Given the description of an element on the screen output the (x, y) to click on. 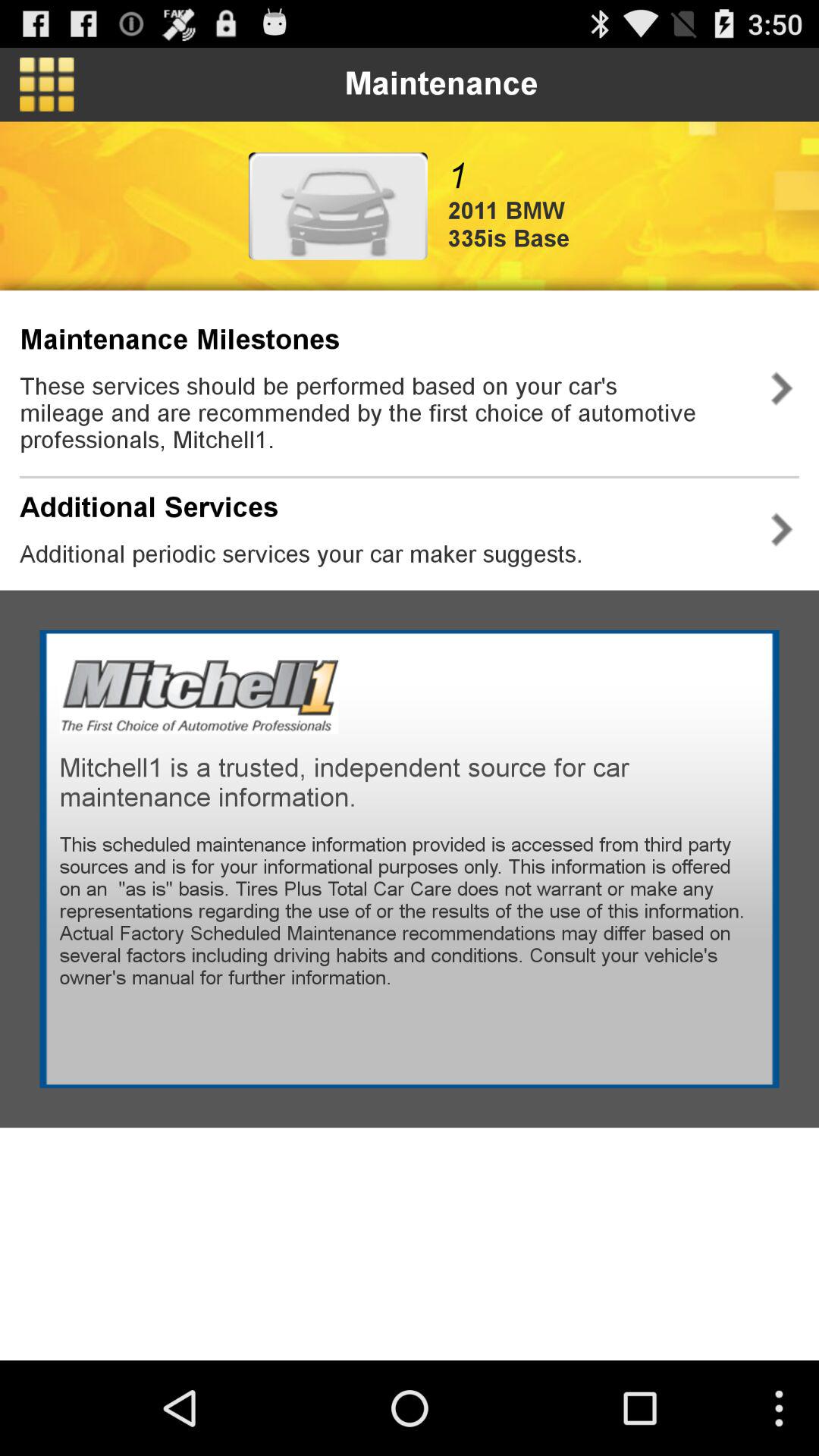
select maintenance milestones item (179, 340)
